Given the description of an element on the screen output the (x, y) to click on. 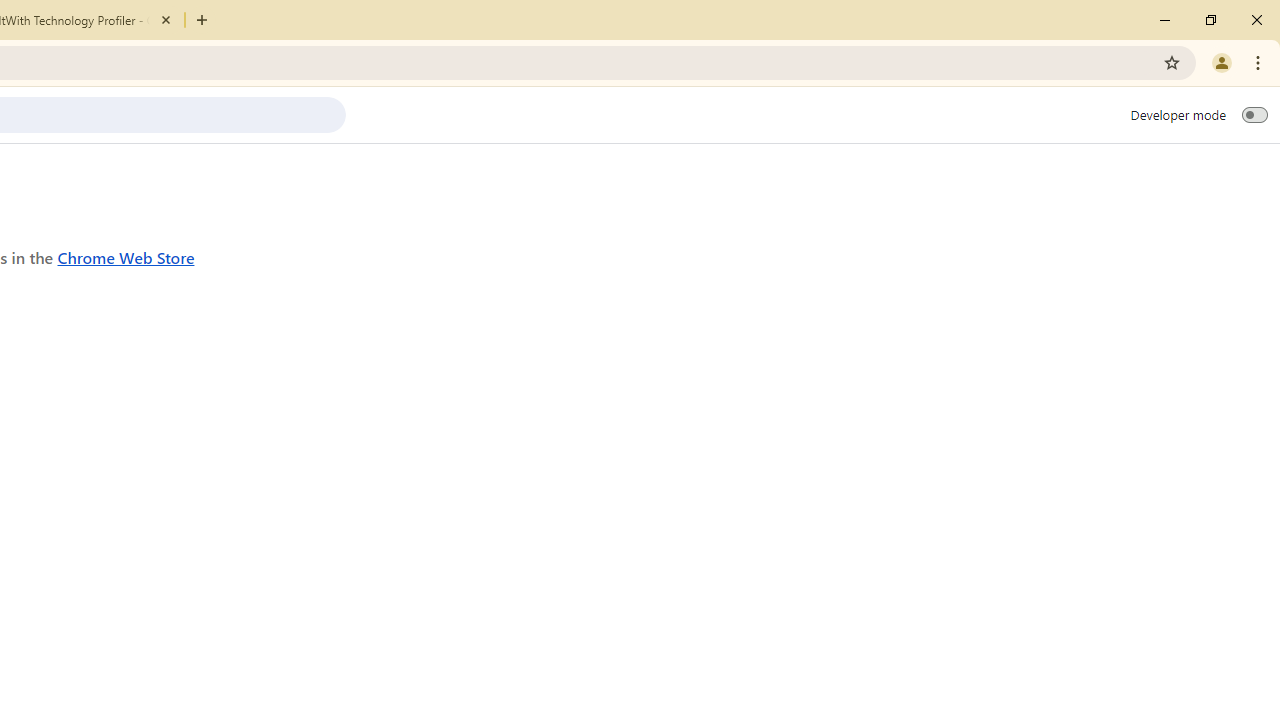
Chrome Web Store (125, 256)
Developer mode (1254, 114)
